Given the description of an element on the screen output the (x, y) to click on. 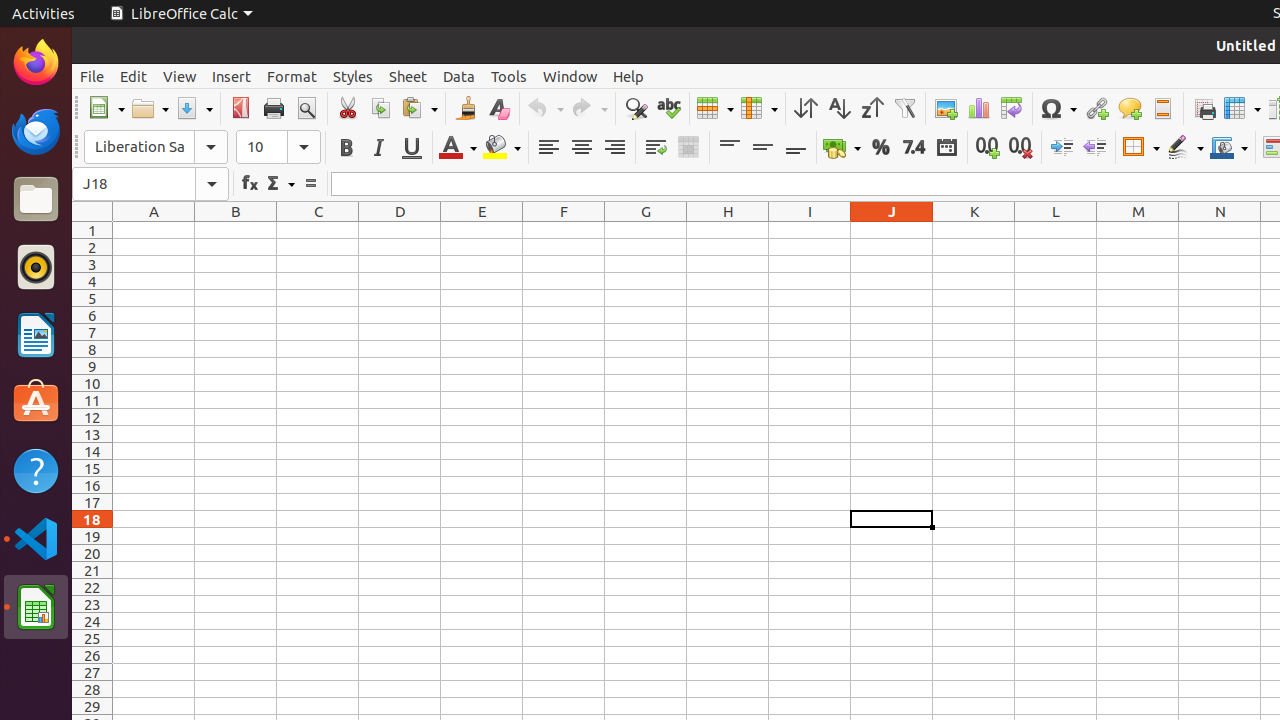
LibreOffice Calc Element type: menu (181, 13)
Bold Element type: toggle-button (345, 147)
N1 Element type: table-cell (1220, 230)
IsaHelpMain.desktop Element type: label (133, 300)
Sort Descending Element type: push-button (871, 108)
